Given the description of an element on the screen output the (x, y) to click on. 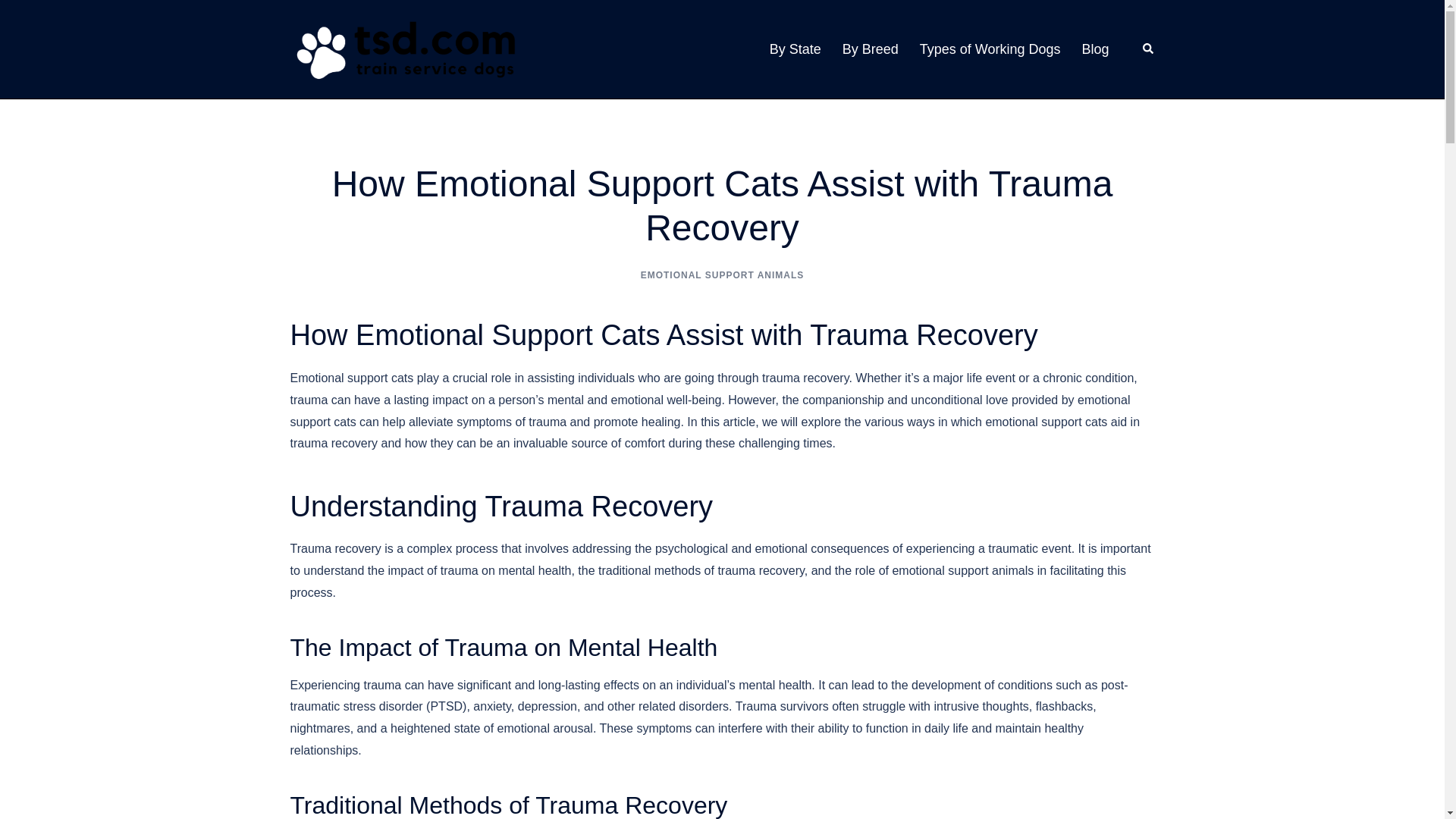
Types of Working Dogs (990, 48)
TrainServiceDogs.com (402, 47)
EMOTIONAL SUPPORT ANIMALS (722, 275)
By Breed (870, 48)
Search (1147, 49)
Blog (1094, 48)
By State (795, 48)
